Given the description of an element on the screen output the (x, y) to click on. 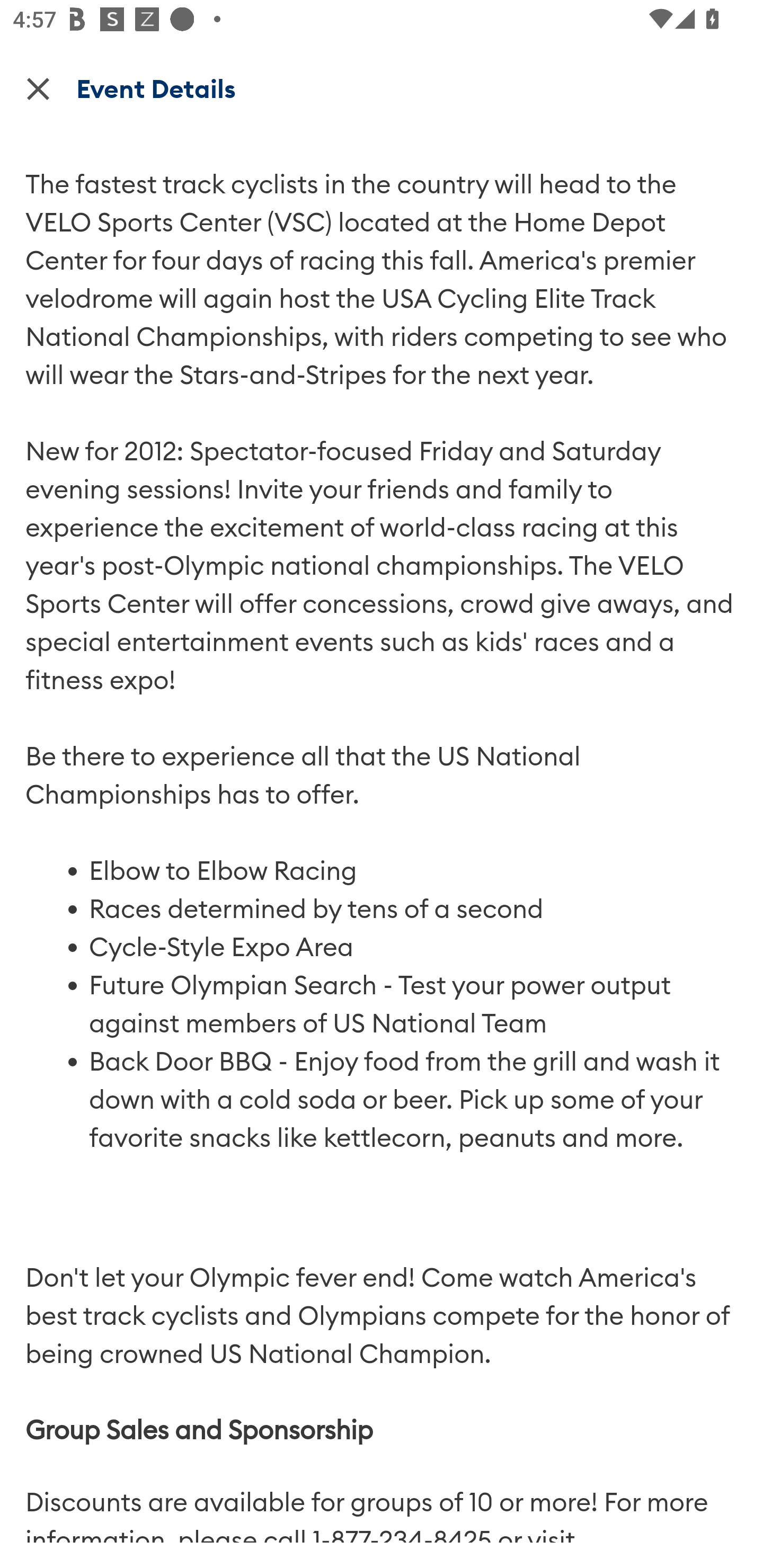
Close (38, 88)
